Given the description of an element on the screen output the (x, y) to click on. 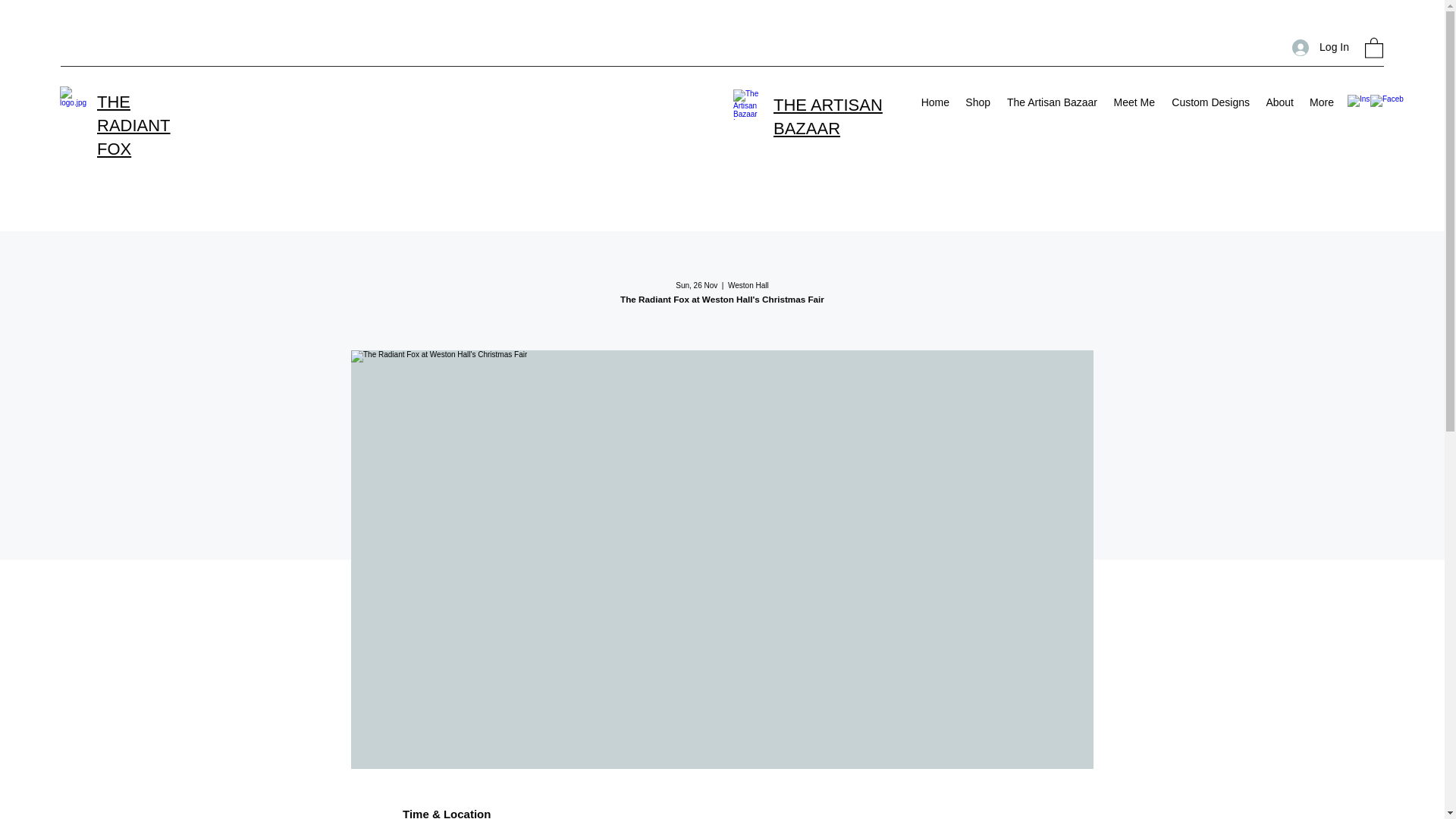
Meet Me (1133, 101)
Shop (976, 101)
THE ARTISAN BAZAAR (827, 116)
Log In (1320, 47)
THE RADIANT FOX (133, 125)
The Artisan Bazaar (1051, 101)
About (1279, 101)
Home (934, 101)
Custom Designs (1209, 101)
